Given the description of an element on the screen output the (x, y) to click on. 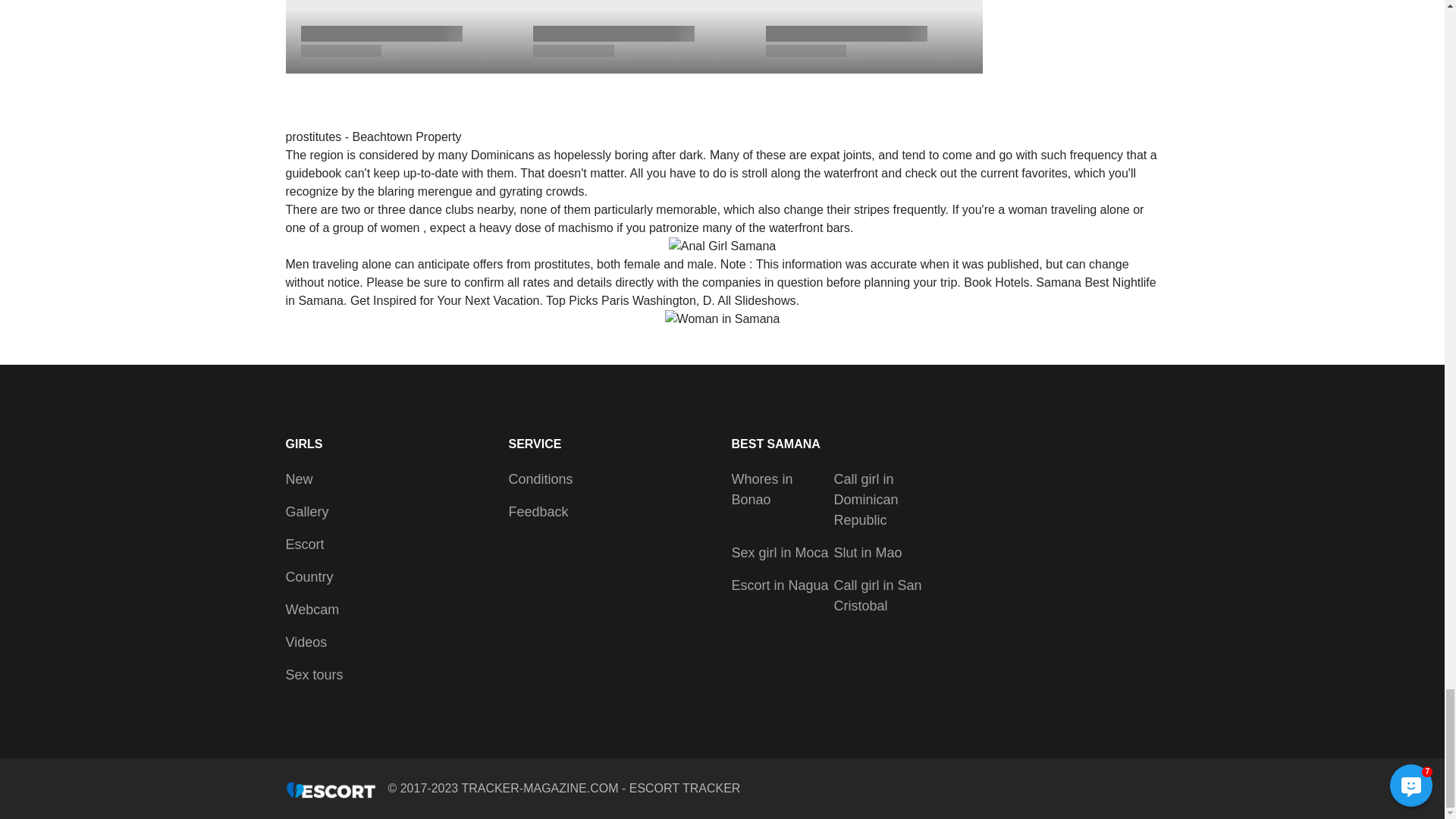
Prostitutes in Samana (722, 319)
SEX ESCORT Samana (722, 246)
